Given the description of an element on the screen output the (x, y) to click on. 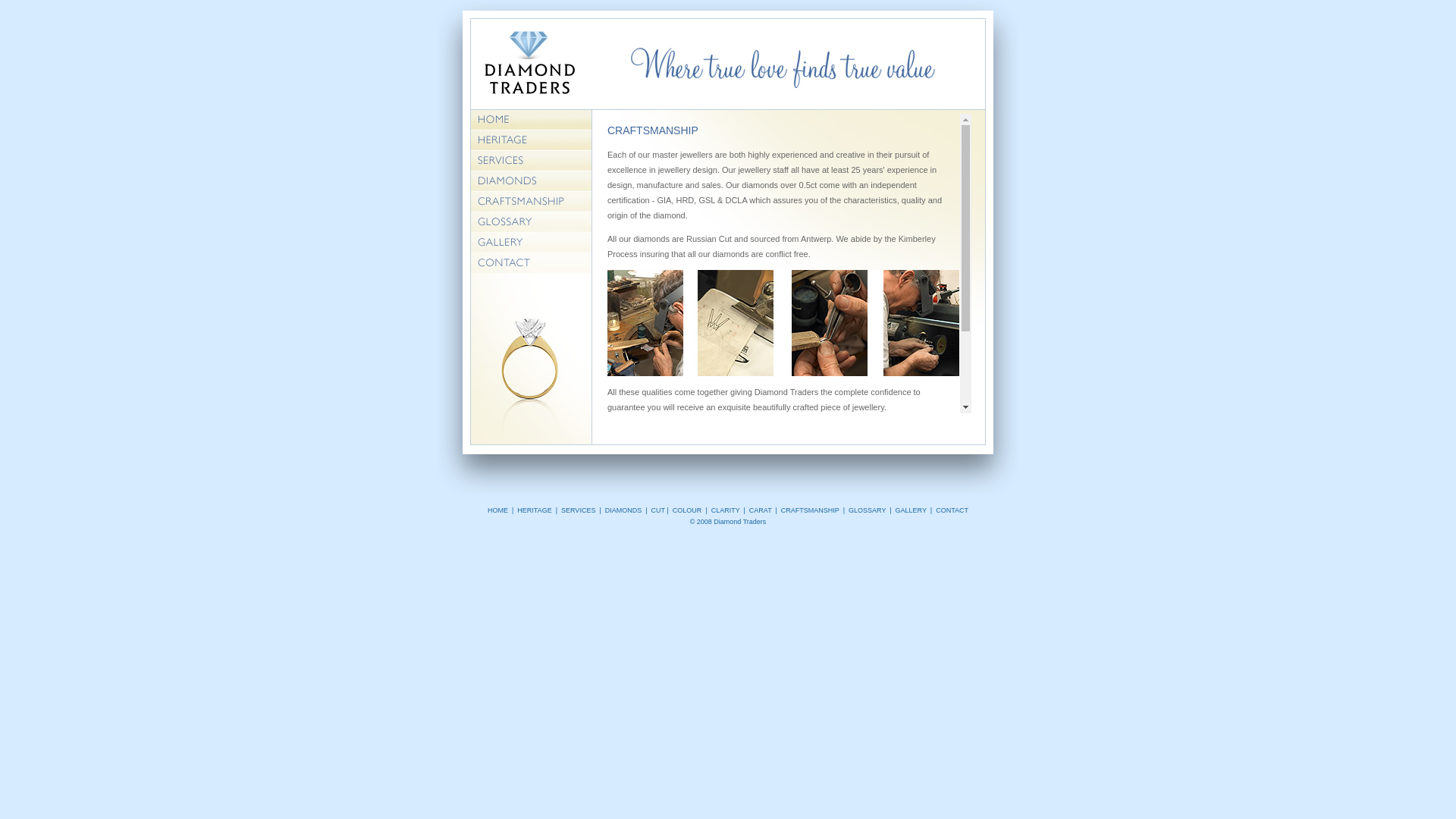
 HERITAGE Element type: text (533, 510)
SERVICES Element type: text (578, 510)
GALLERY Element type: text (910, 510)
GLOSSARY Element type: text (866, 510)
DIAMONDS Element type: text (623, 510)
CONTACT Element type: text (951, 510)
COLOUR Element type: text (687, 510)
CUT Element type: text (658, 510)
CARAT Element type: text (760, 510)
HOME Element type: text (497, 510)
CRAFTSMANSHIP Element type: text (810, 510)
CLARITY  Element type: text (726, 510)
